Given the description of an element on the screen output the (x, y) to click on. 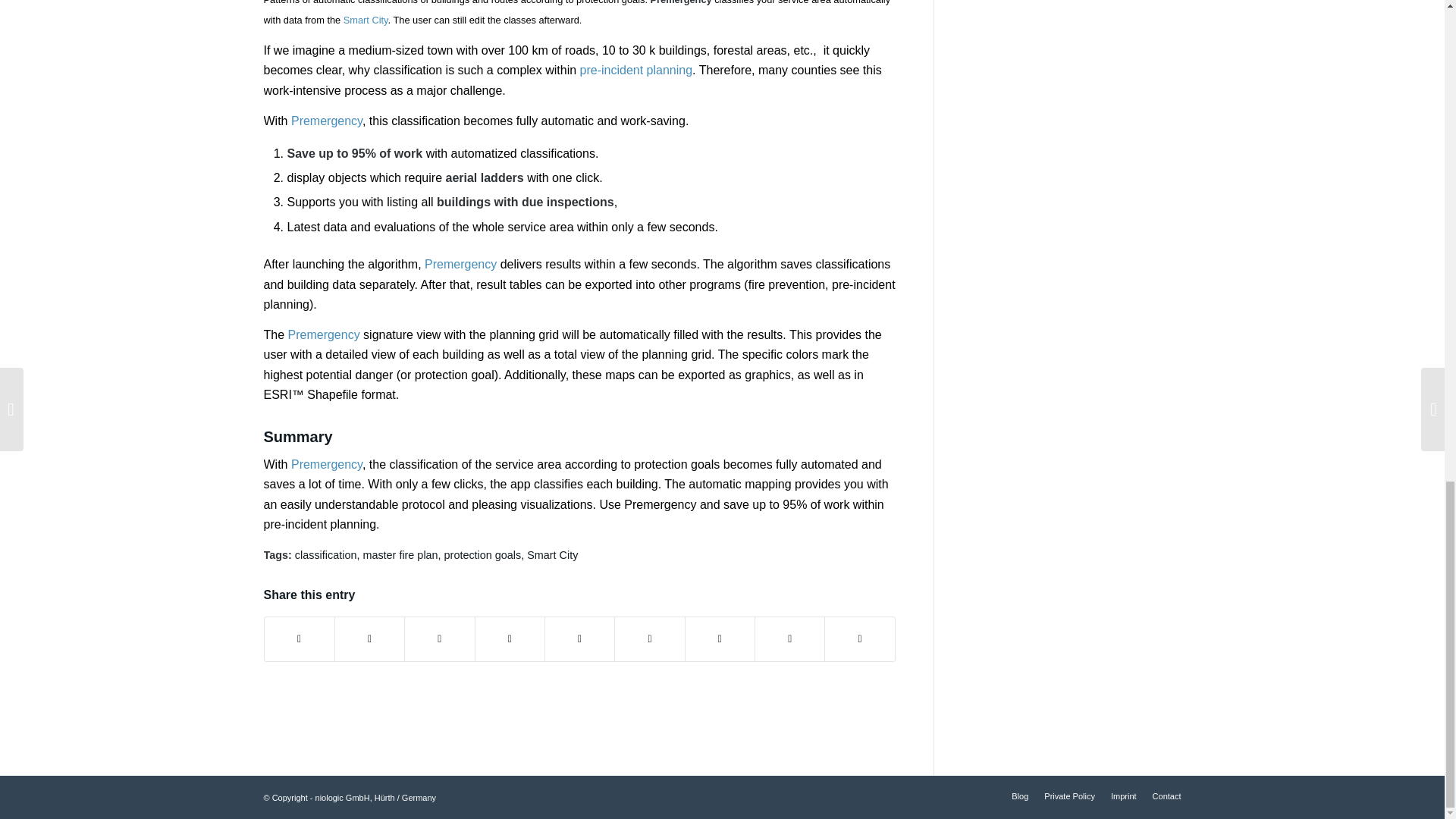
pre-incident planning (636, 69)
Premergency (326, 463)
Smart City (365, 19)
protection goals (482, 554)
classification (325, 554)
Premergency (326, 120)
Premergency (323, 334)
master fire plan (400, 554)
Premergency (460, 264)
Smart City (552, 554)
